Given the description of an element on the screen output the (x, y) to click on. 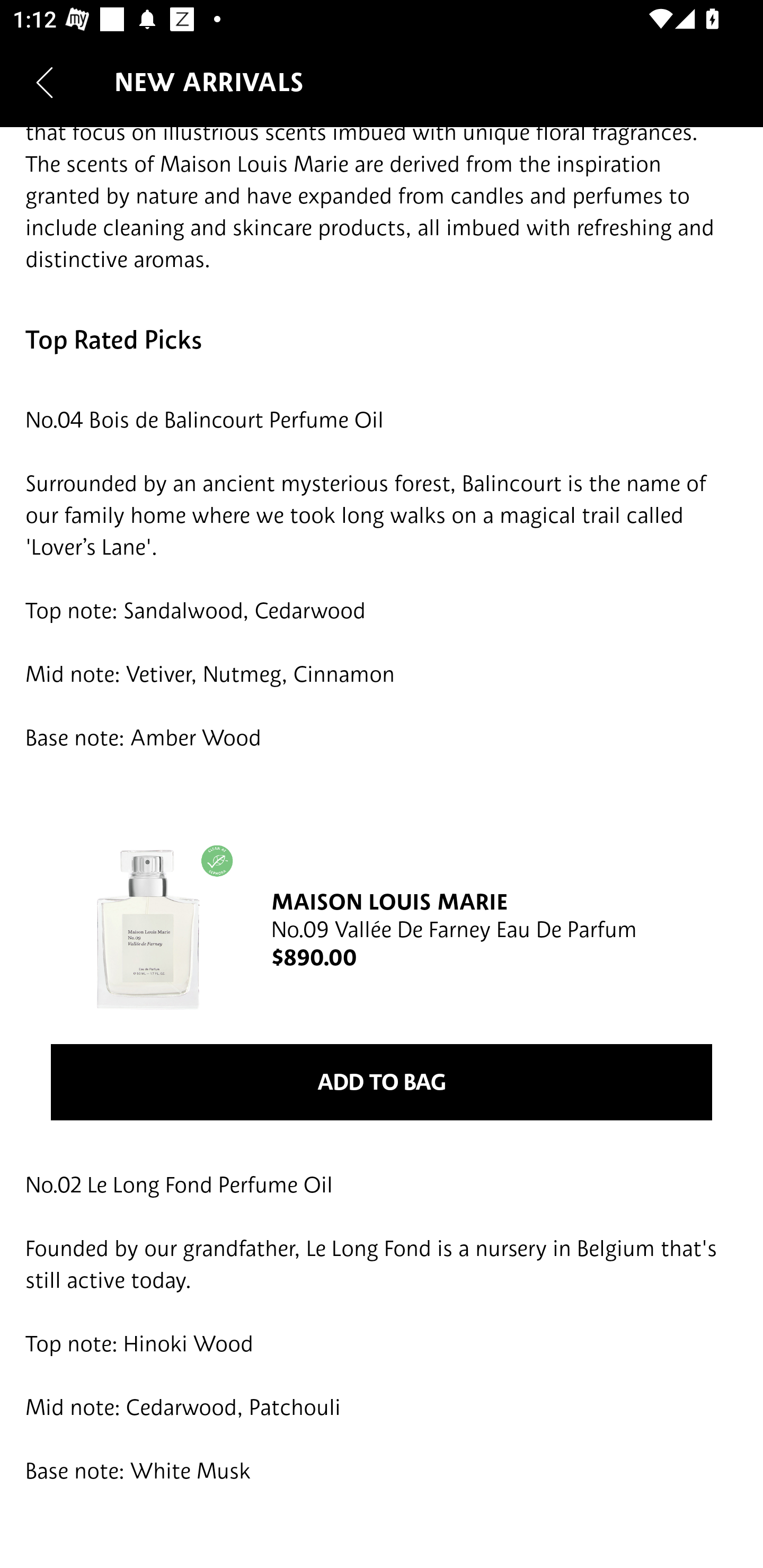
Navigate up (44, 82)
Top Rated Picks (381, 340)
ADD TO BAG (381, 1082)
